Given the description of an element on the screen output the (x, y) to click on. 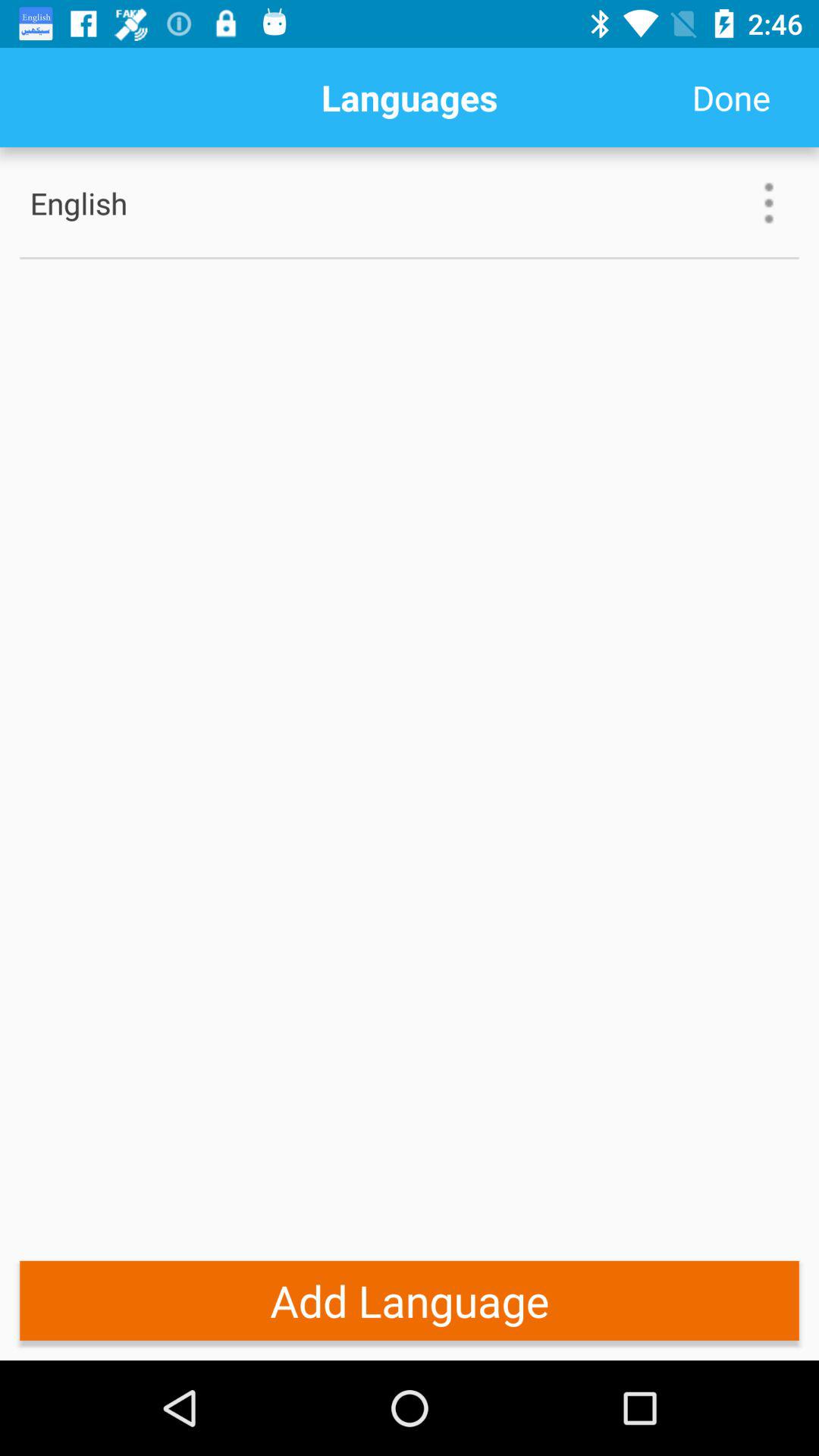
tap english icon (128, 203)
